Given the description of an element on the screen output the (x, y) to click on. 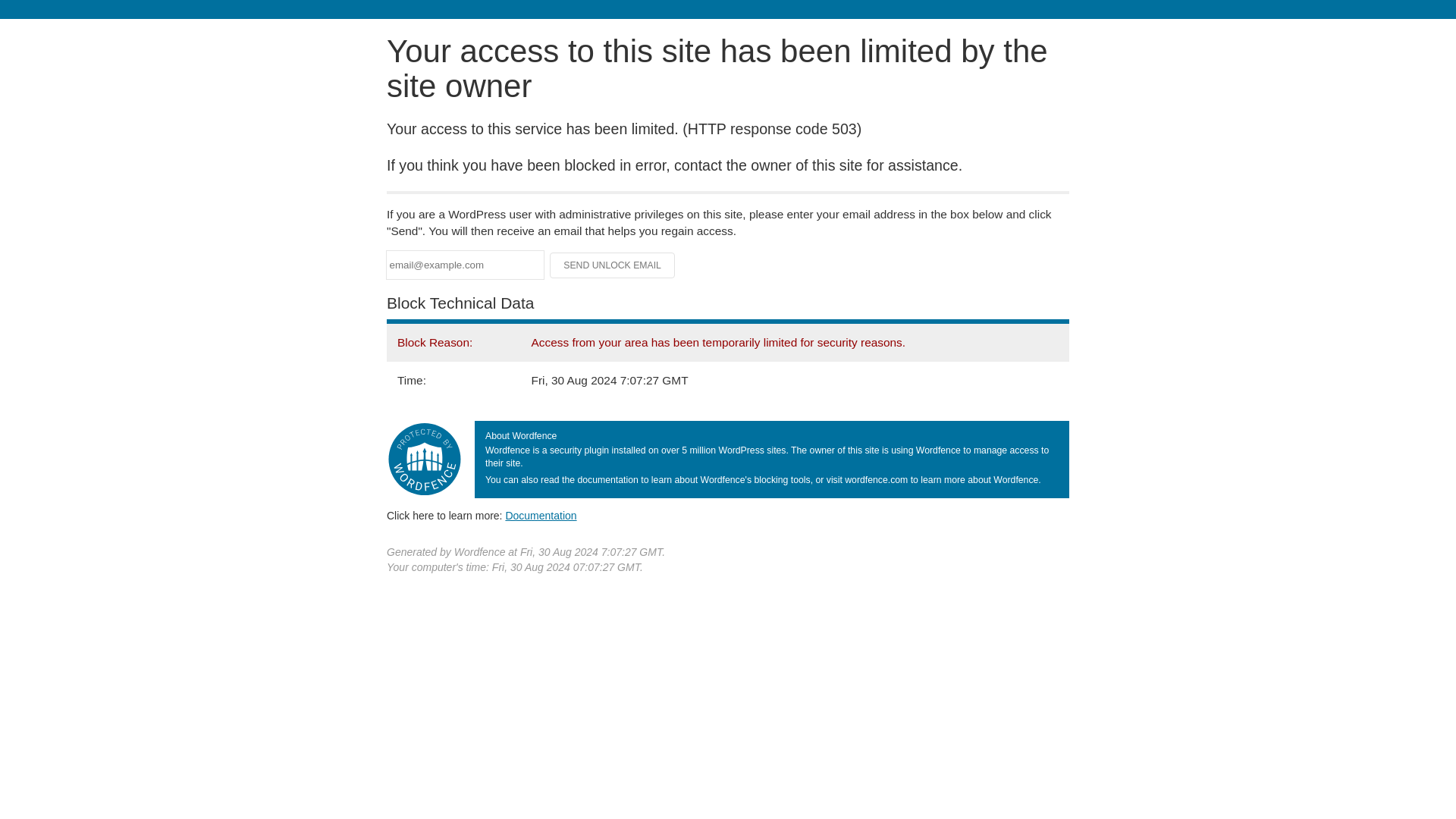
Documentation (540, 515)
Send Unlock Email (612, 265)
Send Unlock Email (612, 265)
